Given the description of an element on the screen output the (x, y) to click on. 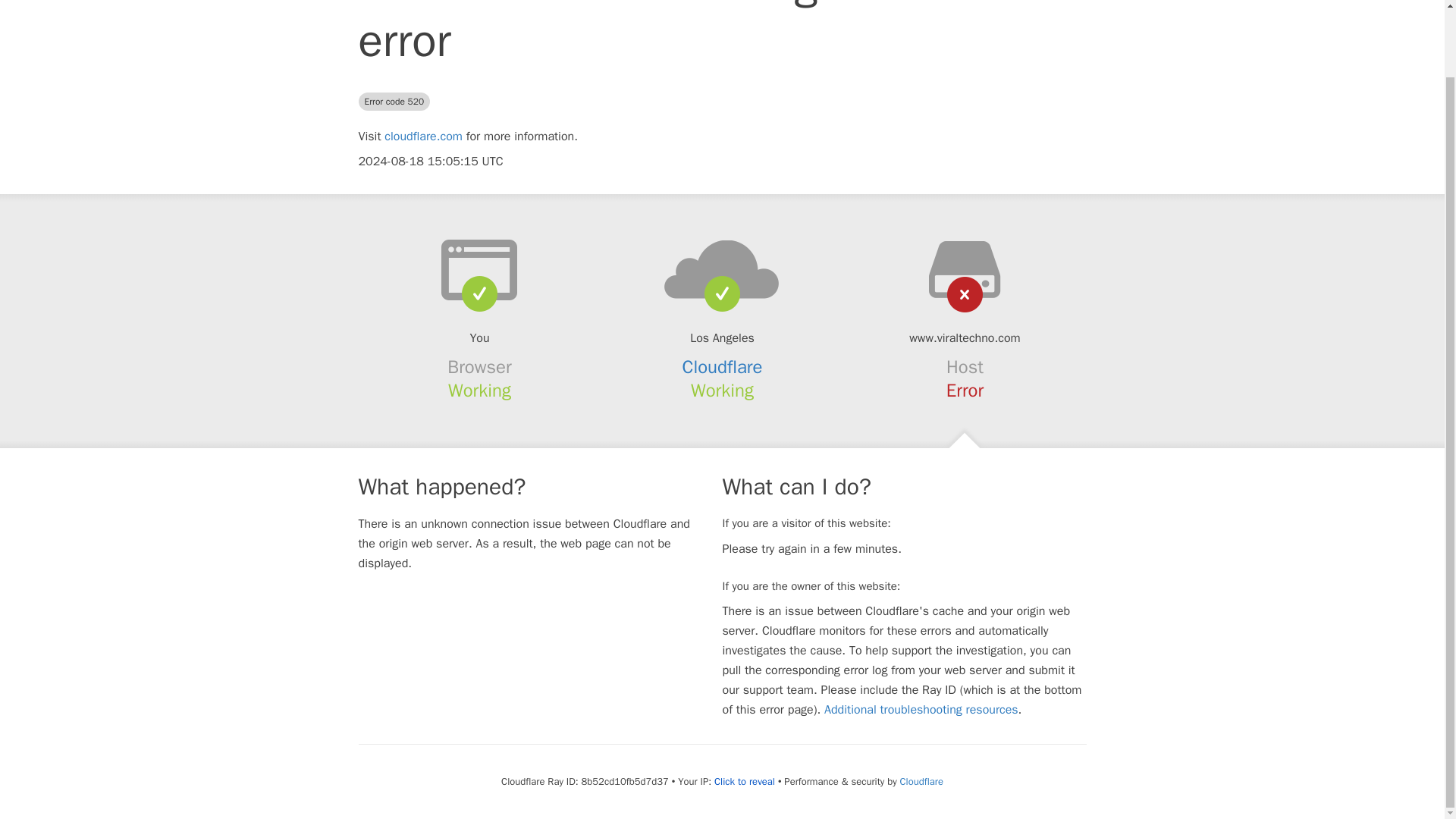
Cloudflare (722, 366)
Additional troubleshooting resources (920, 709)
Click to reveal (744, 781)
cloudflare.com (423, 136)
Cloudflare (921, 780)
